Given the description of an element on the screen output the (x, y) to click on. 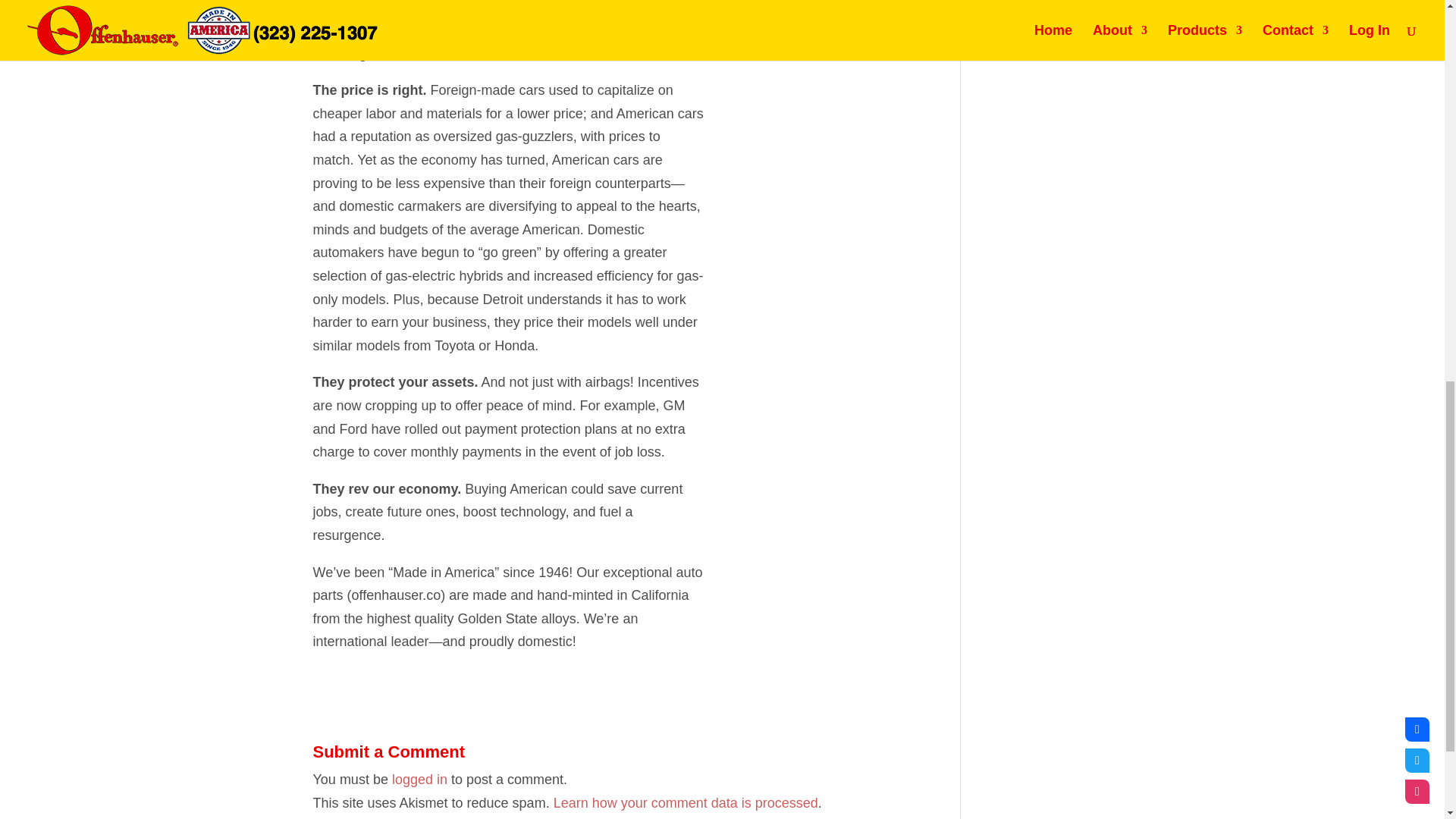
logged in (418, 779)
Learn how your comment data is processed (685, 802)
